Given the description of an element on the screen output the (x, y) to click on. 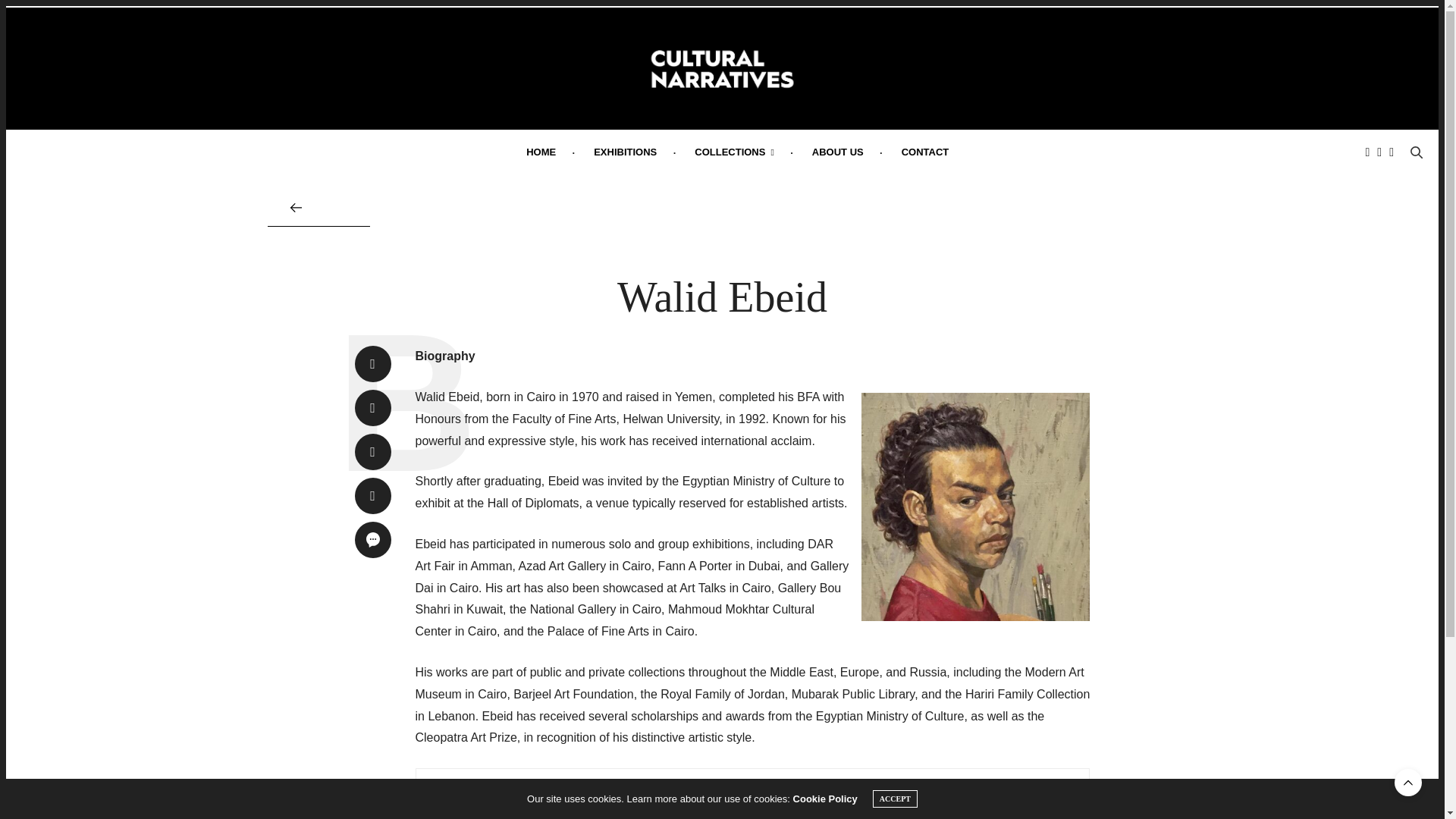
HOME (540, 152)
COLLECTIONS (734, 152)
EXHIBITIONS (624, 152)
Scroll To Top (1408, 782)
Cultural Narratives (722, 68)
